Given the description of an element on the screen output the (x, y) to click on. 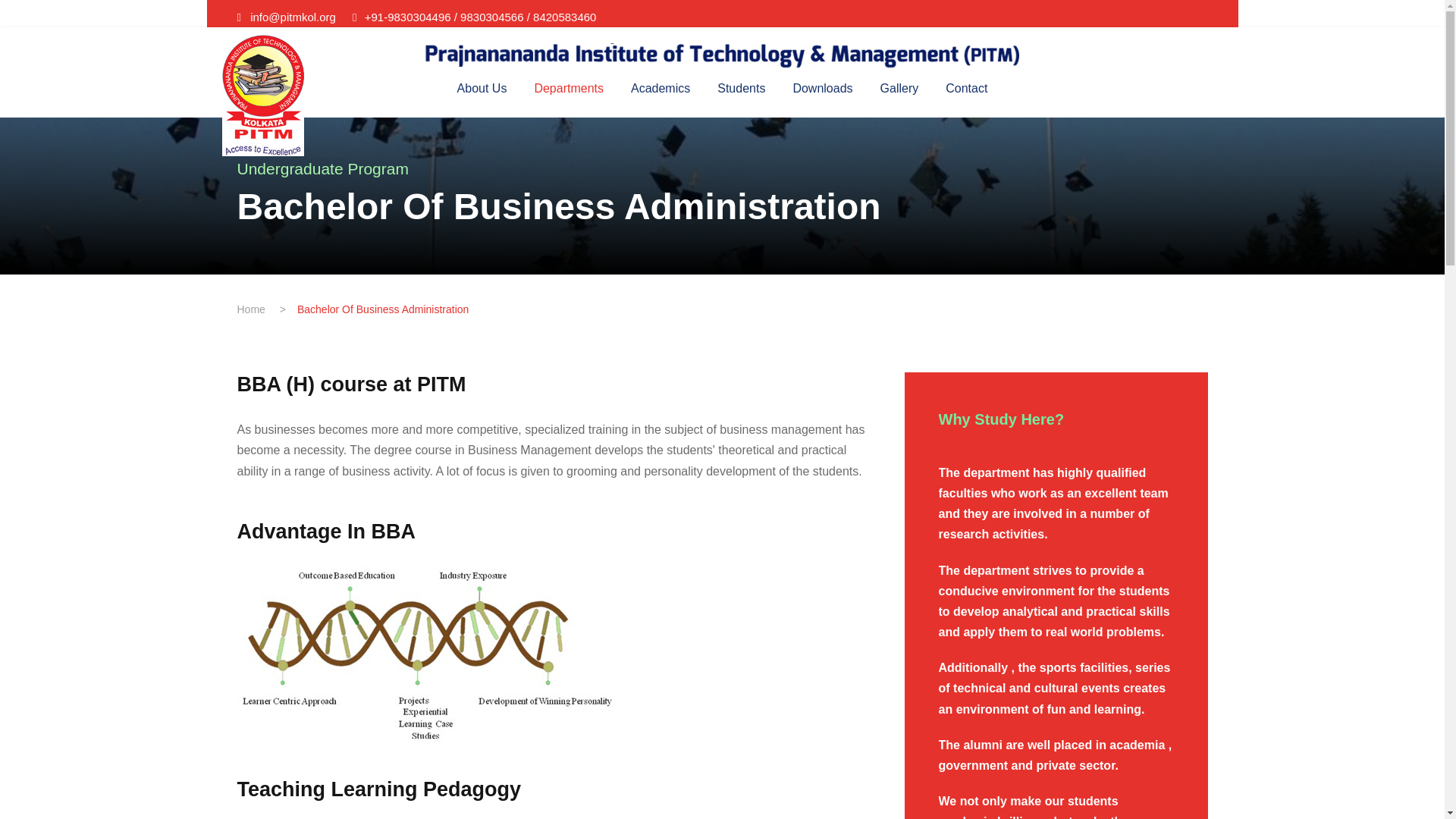
Go to pitm. (249, 309)
about-icon-1 (425, 654)
About Us (481, 96)
Students (741, 96)
Gallery (899, 96)
Contact (965, 96)
Departments (569, 96)
Home (249, 309)
Downloads (821, 96)
Academics (660, 96)
